Given the description of an element on the screen output the (x, y) to click on. 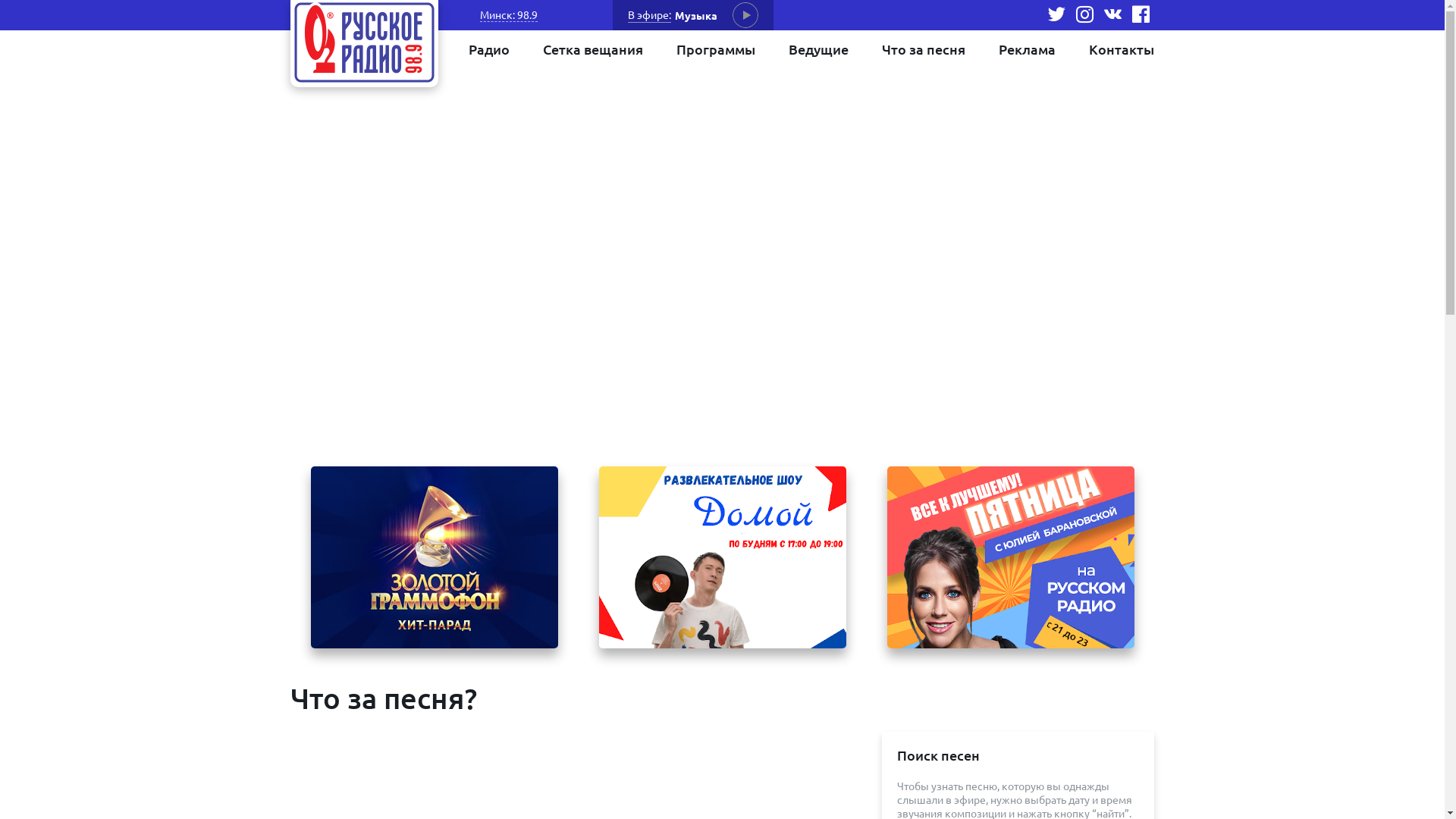
4 Element type: text (751, 513)
facebook Element type: hover (1139, 14)
twitter Element type: hover (1056, 14)
vk Element type: hover (1112, 14)
2 Element type: text (711, 513)
instagram Element type: hover (1083, 14)
3 Element type: text (731, 513)
1 Element type: text (692, 513)
